Given the description of an element on the screen output the (x, y) to click on. 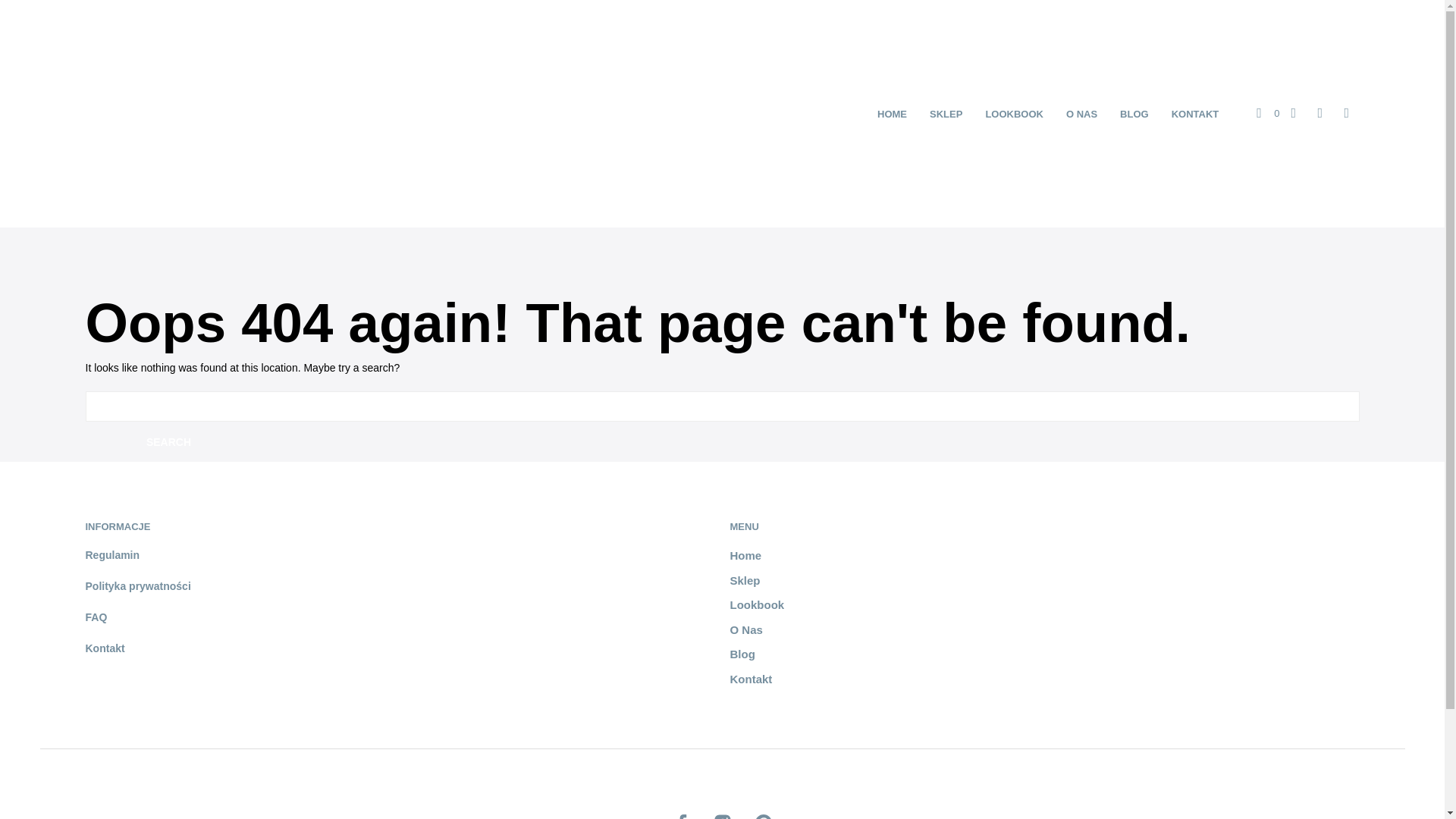
Kontakt (750, 678)
Lookbook (756, 604)
Home (745, 554)
Kontakt (103, 648)
Search (167, 441)
KONTAKT (1195, 114)
LOOKBOOK (1014, 114)
Search (167, 441)
O Nas (745, 629)
Blog (741, 653)
